Given the description of an element on the screen output the (x, y) to click on. 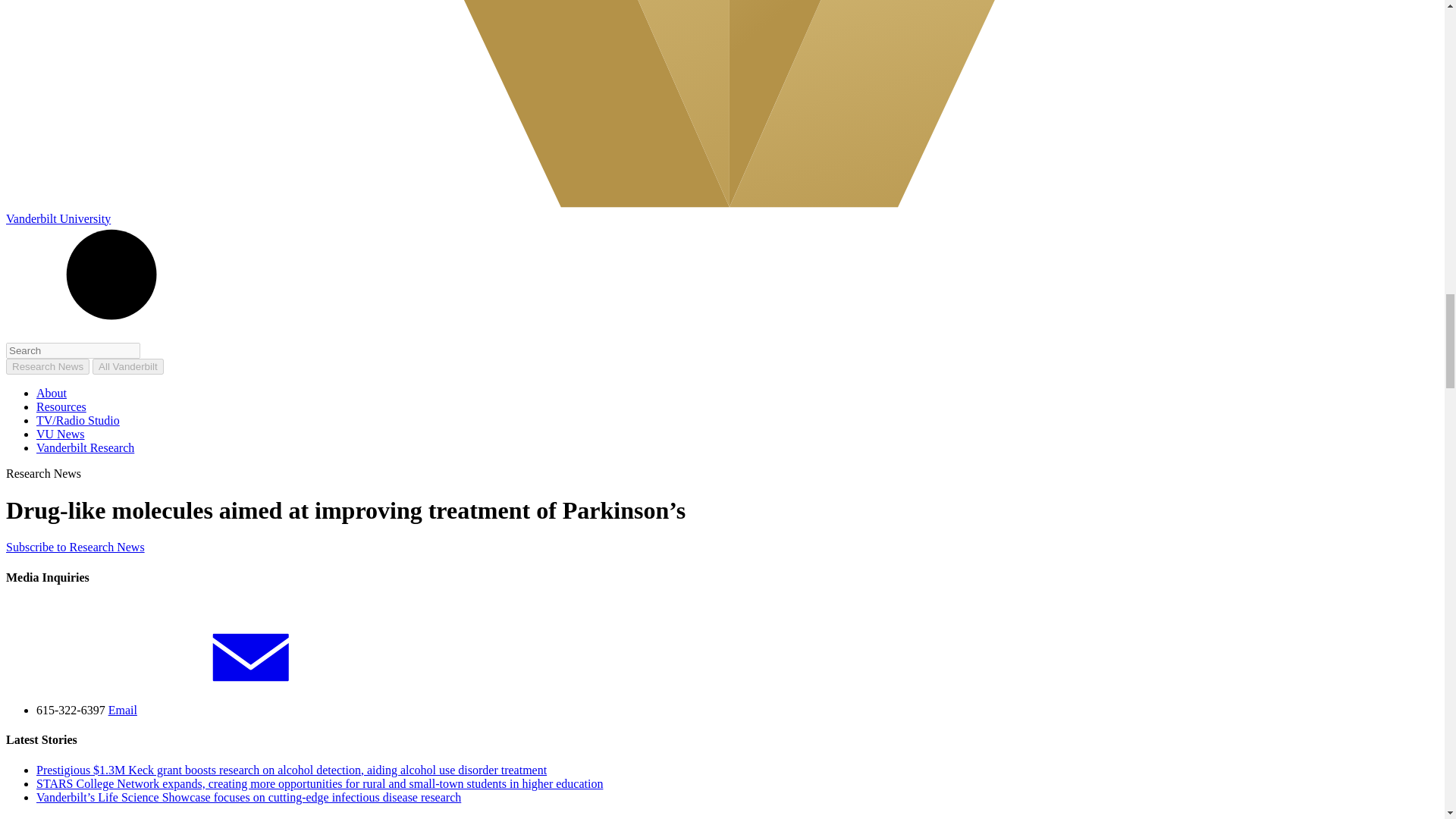
Research News (46, 366)
About (51, 392)
Resources (60, 406)
VU News (60, 433)
Subscribe to Research News (74, 546)
All Vanderbilt (128, 366)
Email (236, 709)
Vanderbilt Research (84, 447)
